Given the description of an element on the screen output the (x, y) to click on. 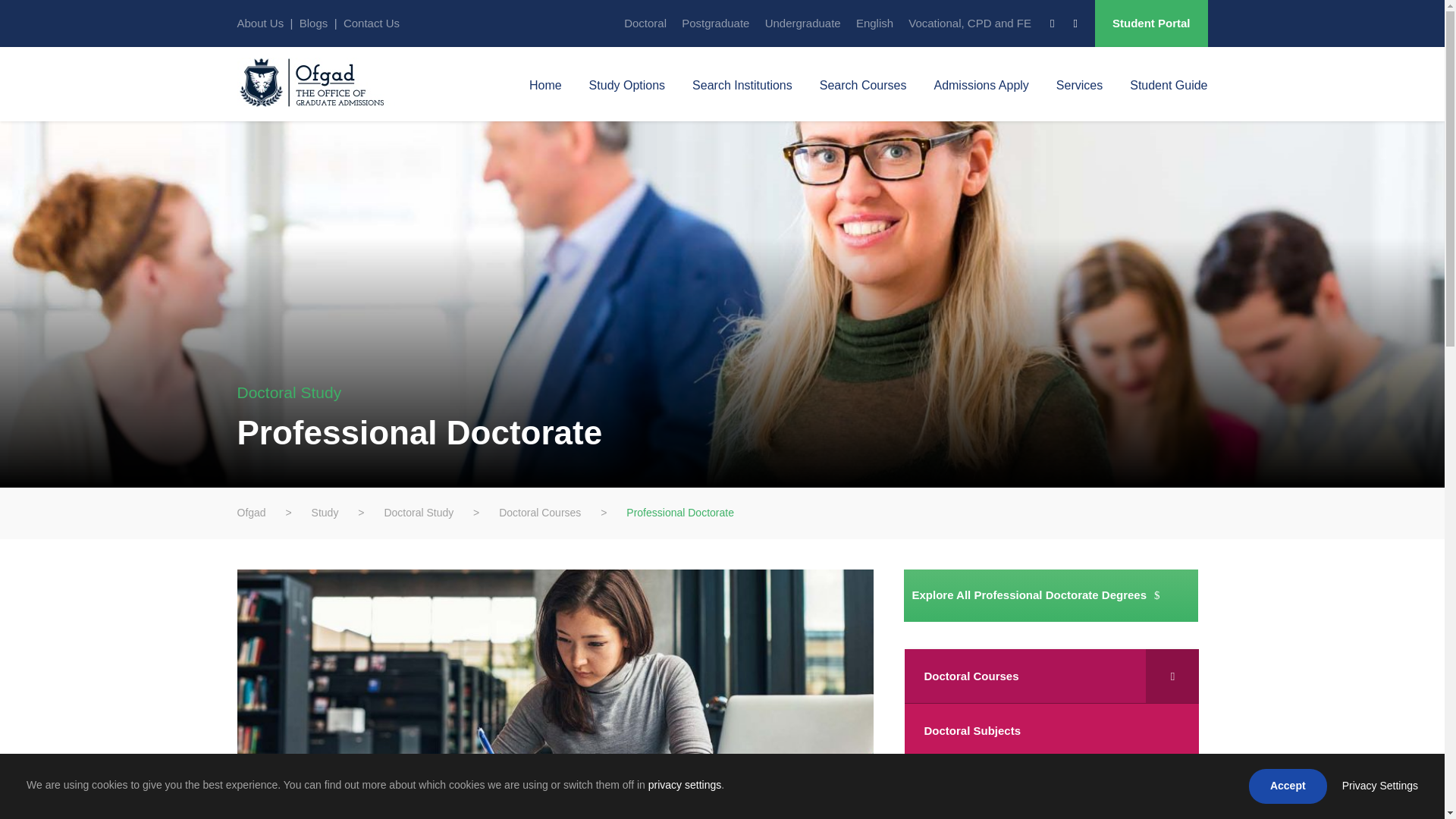
email (1051, 22)
Go to Doctoral Courses. (539, 512)
headlogo1 (319, 82)
Go to Study. (325, 512)
skype (1075, 22)
Go to Ofgad. (249, 512)
Go to Doctoral Study. (418, 512)
